Given the description of an element on the screen output the (x, y) to click on. 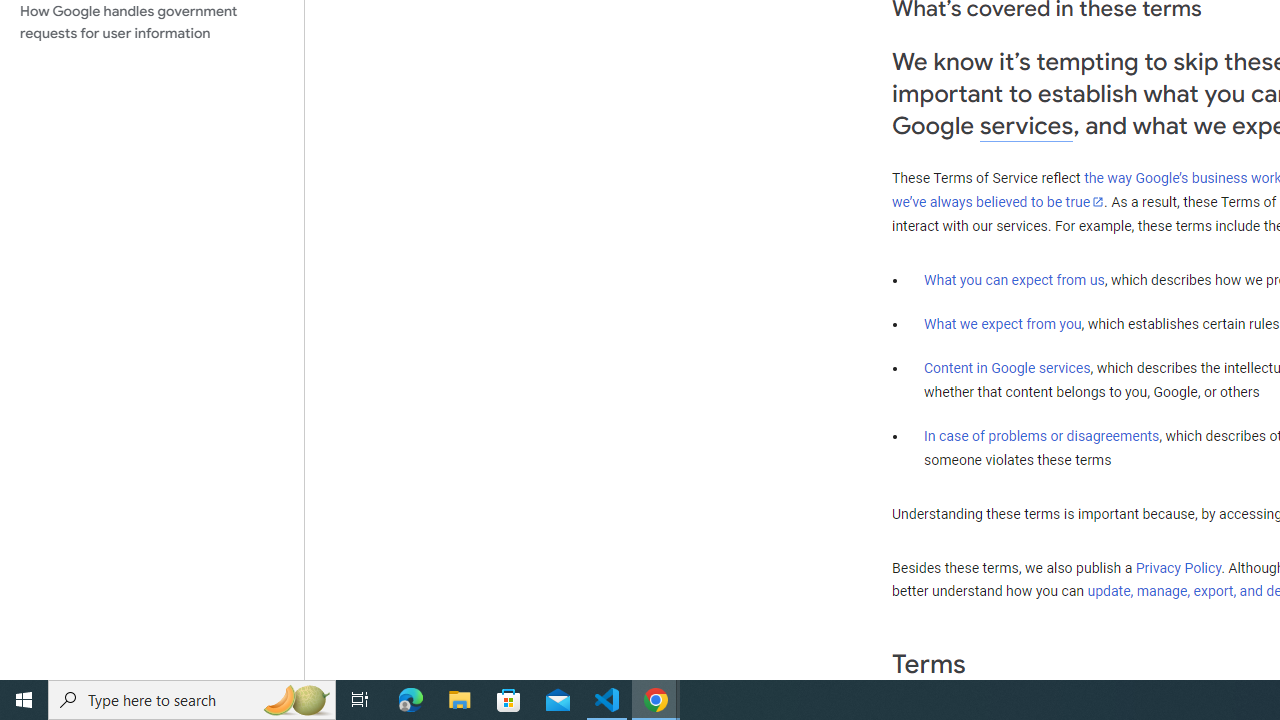
services (1026, 125)
What you can expect from us (1014, 279)
What we expect from you (1002, 323)
